Given the description of an element on the screen output the (x, y) to click on. 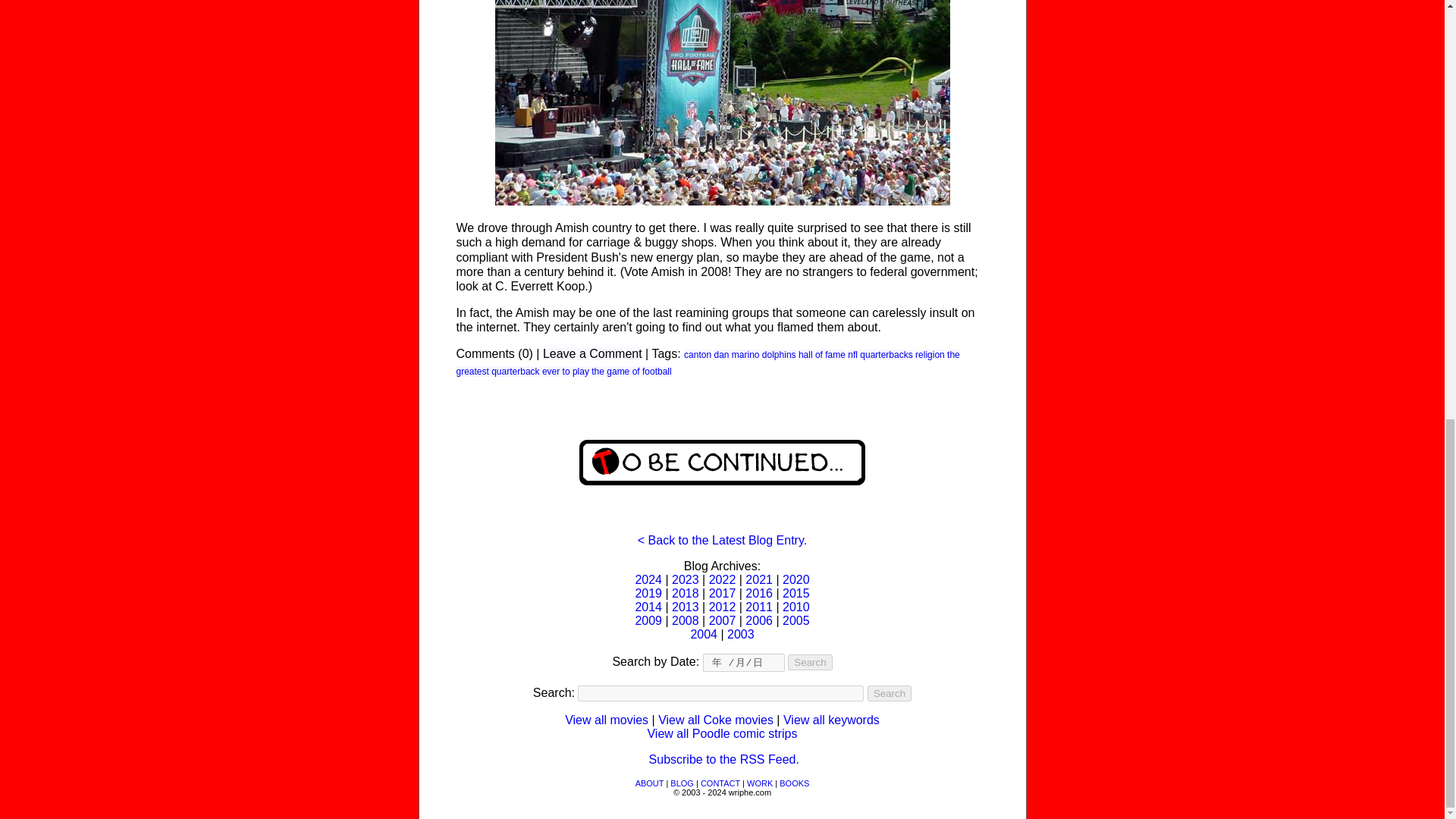
Search (889, 693)
2019 (648, 593)
Leave a Comment (592, 353)
2020 (796, 579)
2017 (722, 593)
canton (697, 354)
2018 (684, 593)
Marino HOF (722, 102)
2014 (648, 606)
2023 (684, 579)
